Given the description of an element on the screen output the (x, y) to click on. 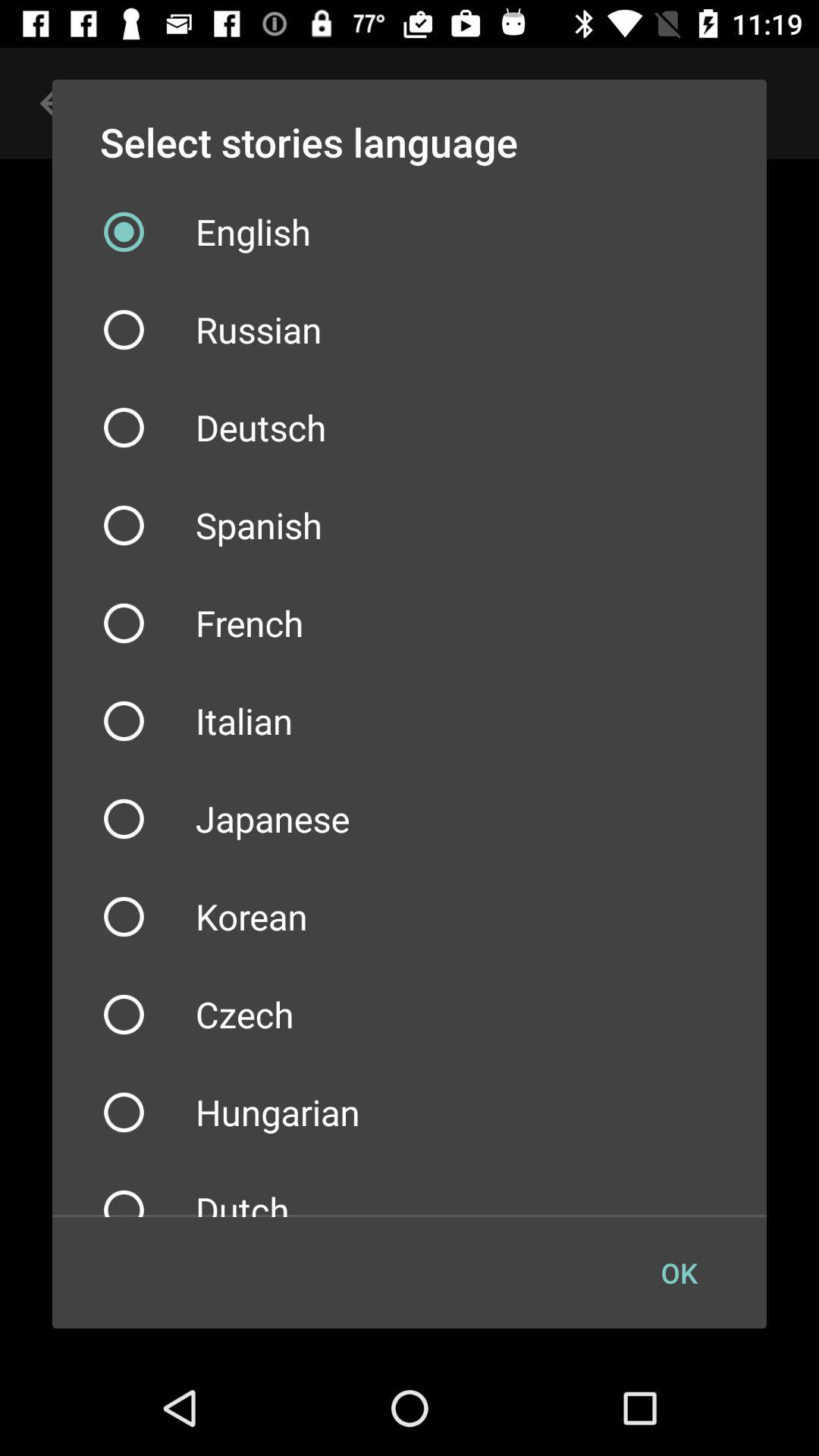
turn off the item at the bottom right corner (678, 1272)
